Given the description of an element on the screen output the (x, y) to click on. 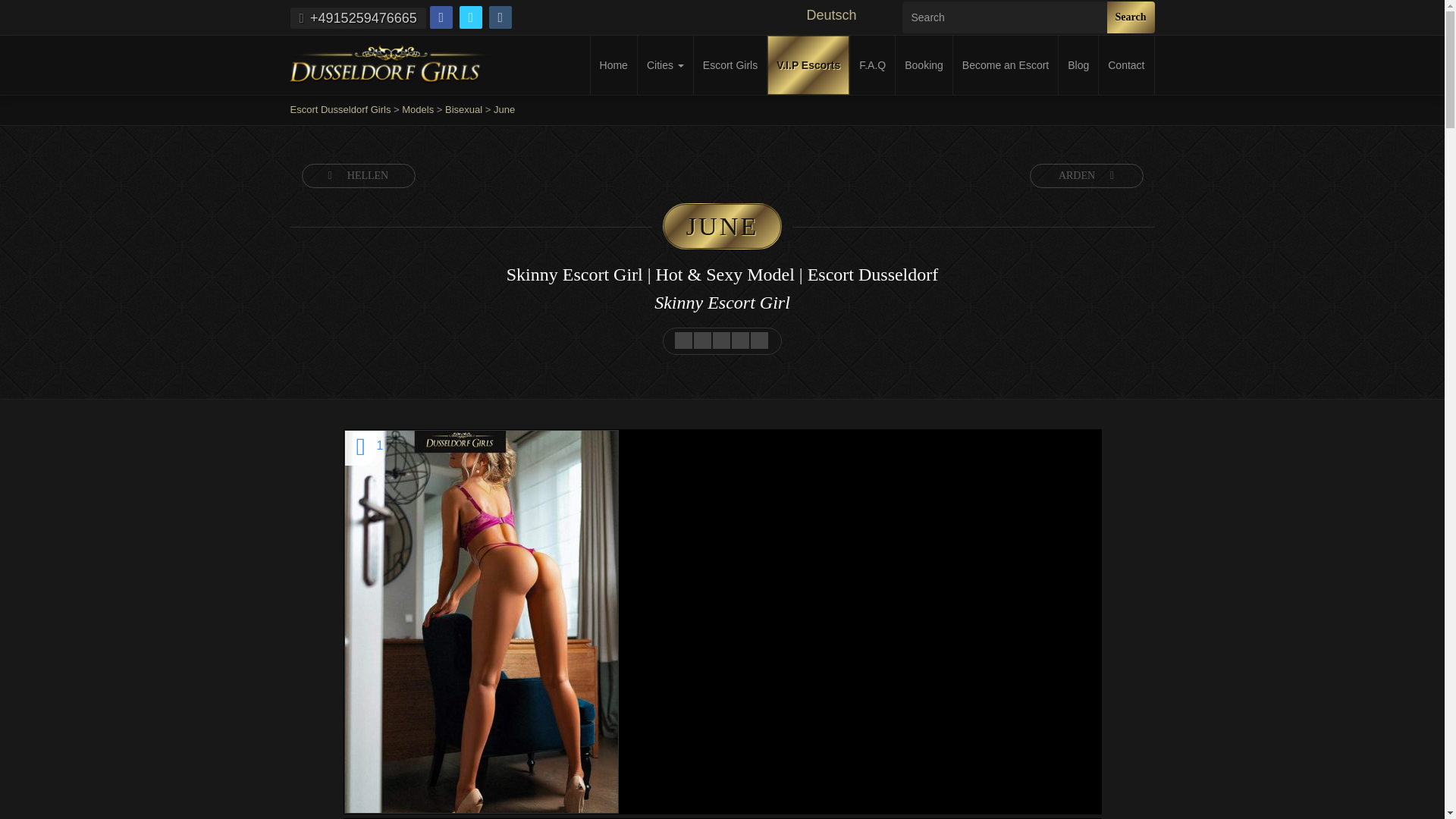
Deutsch (845, 14)
Deutsch (845, 14)
Cities (665, 65)
Cities (665, 65)
Search (1130, 17)
